Given the description of an element on the screen output the (x, y) to click on. 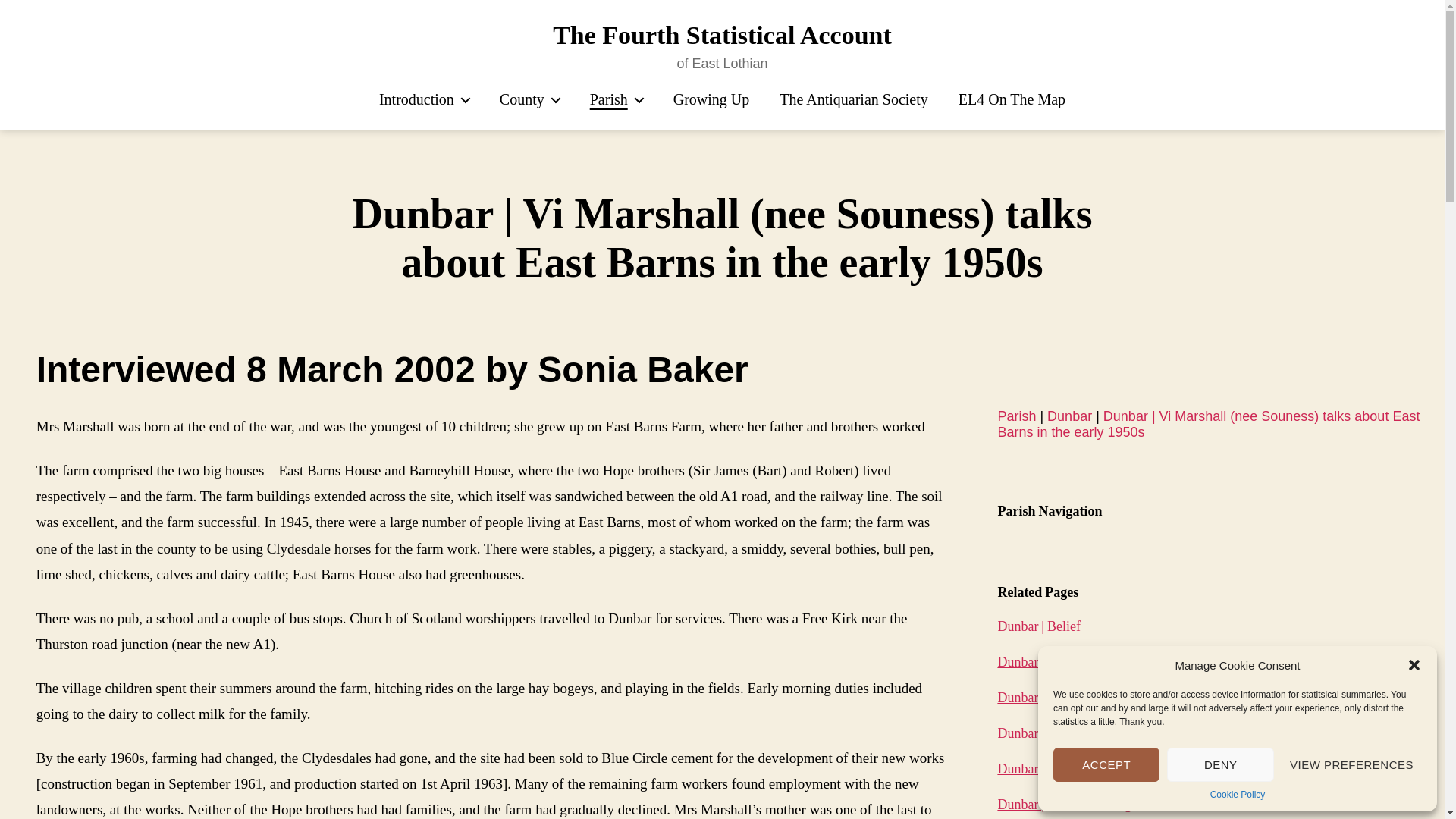
The Fourth Statistical Account (722, 35)
VIEW PREFERENCES (1351, 764)
ACCEPT (1105, 764)
Introduction (423, 99)
County (529, 99)
Cookie Policy (1237, 794)
DENY (1219, 764)
